Given the description of an element on the screen output the (x, y) to click on. 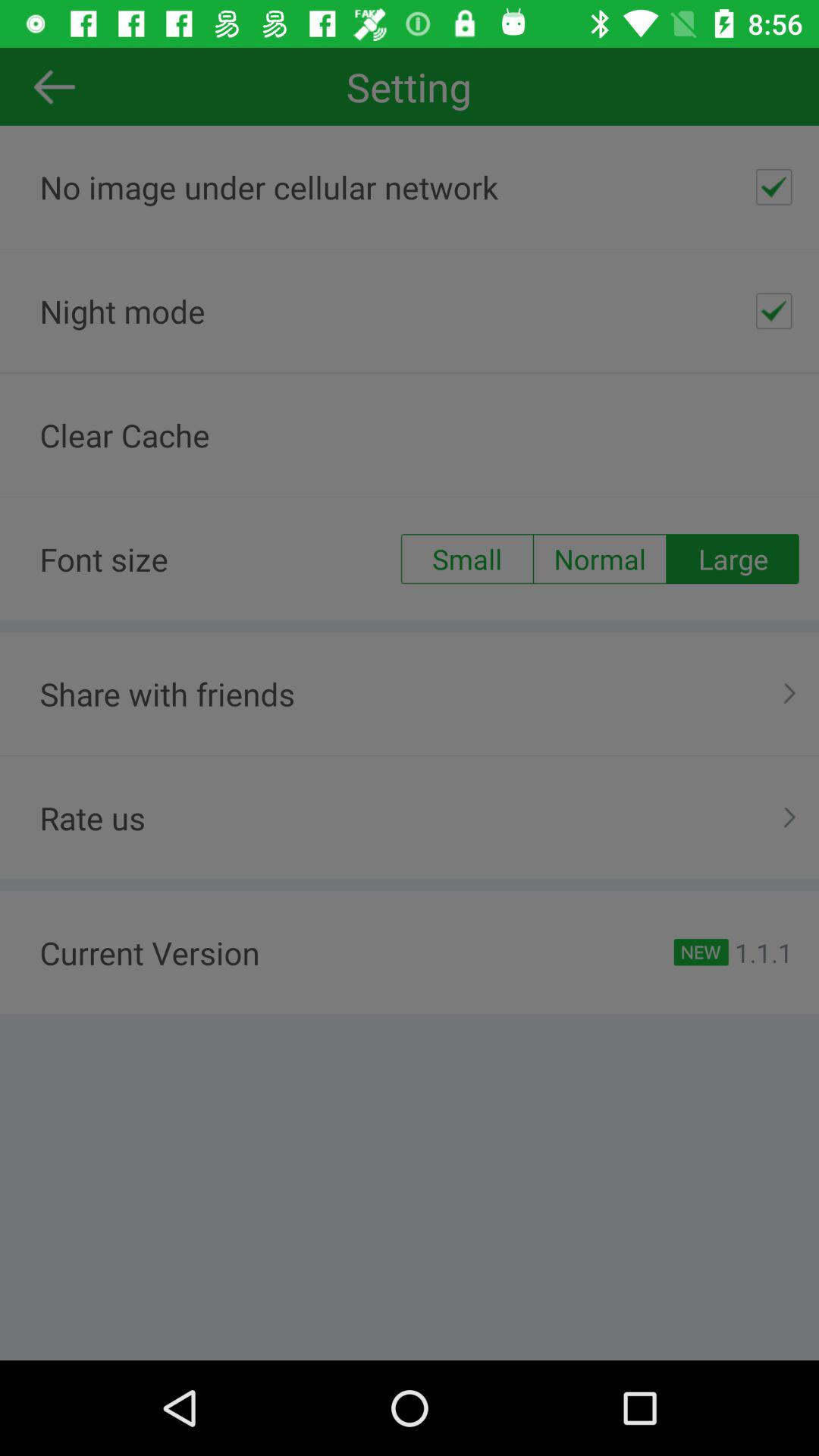
turn off the item below the clear cache app (733, 559)
